Given the description of an element on the screen output the (x, y) to click on. 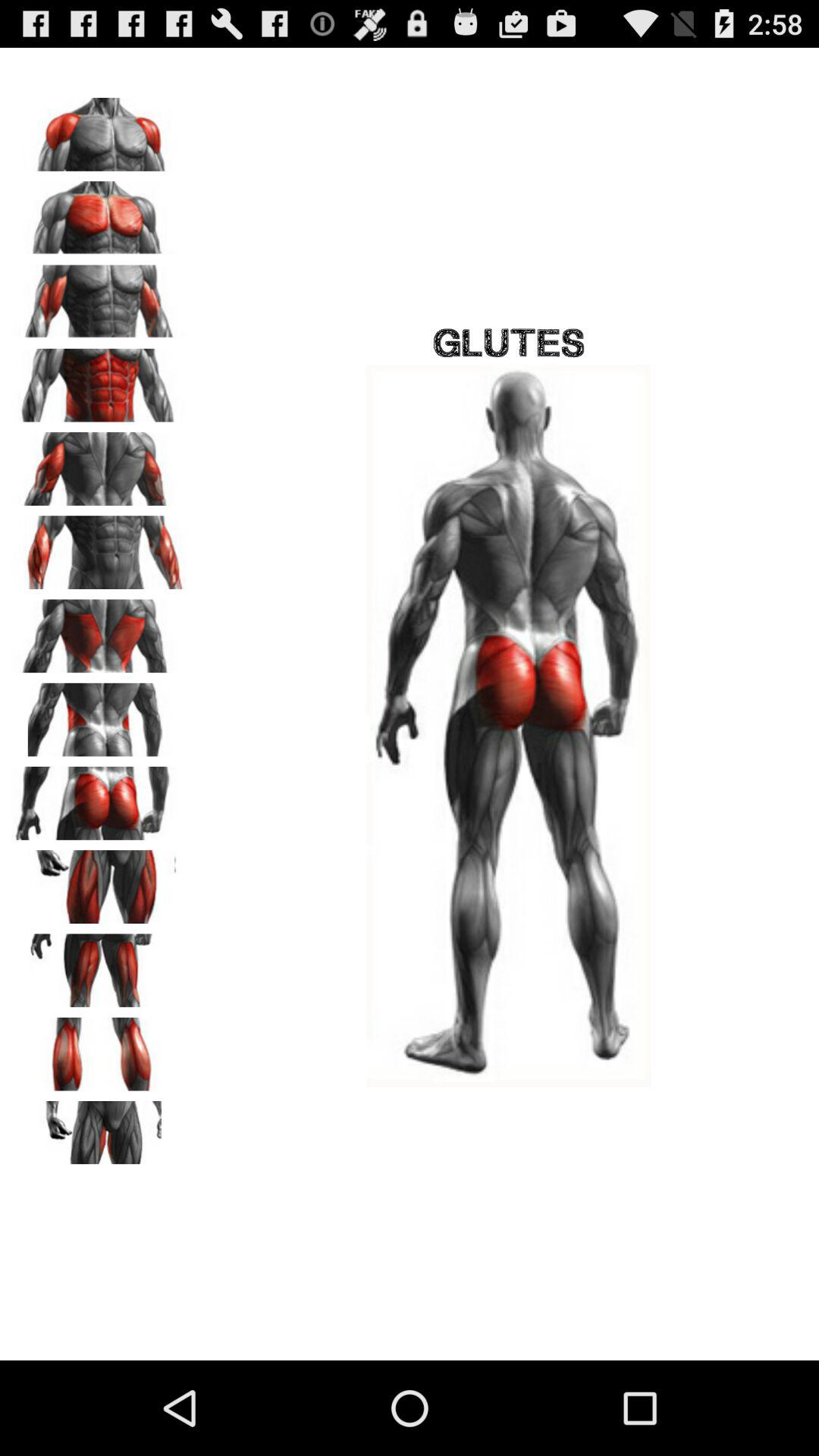
view body part (99, 296)
